Given the description of an element on the screen output the (x, y) to click on. 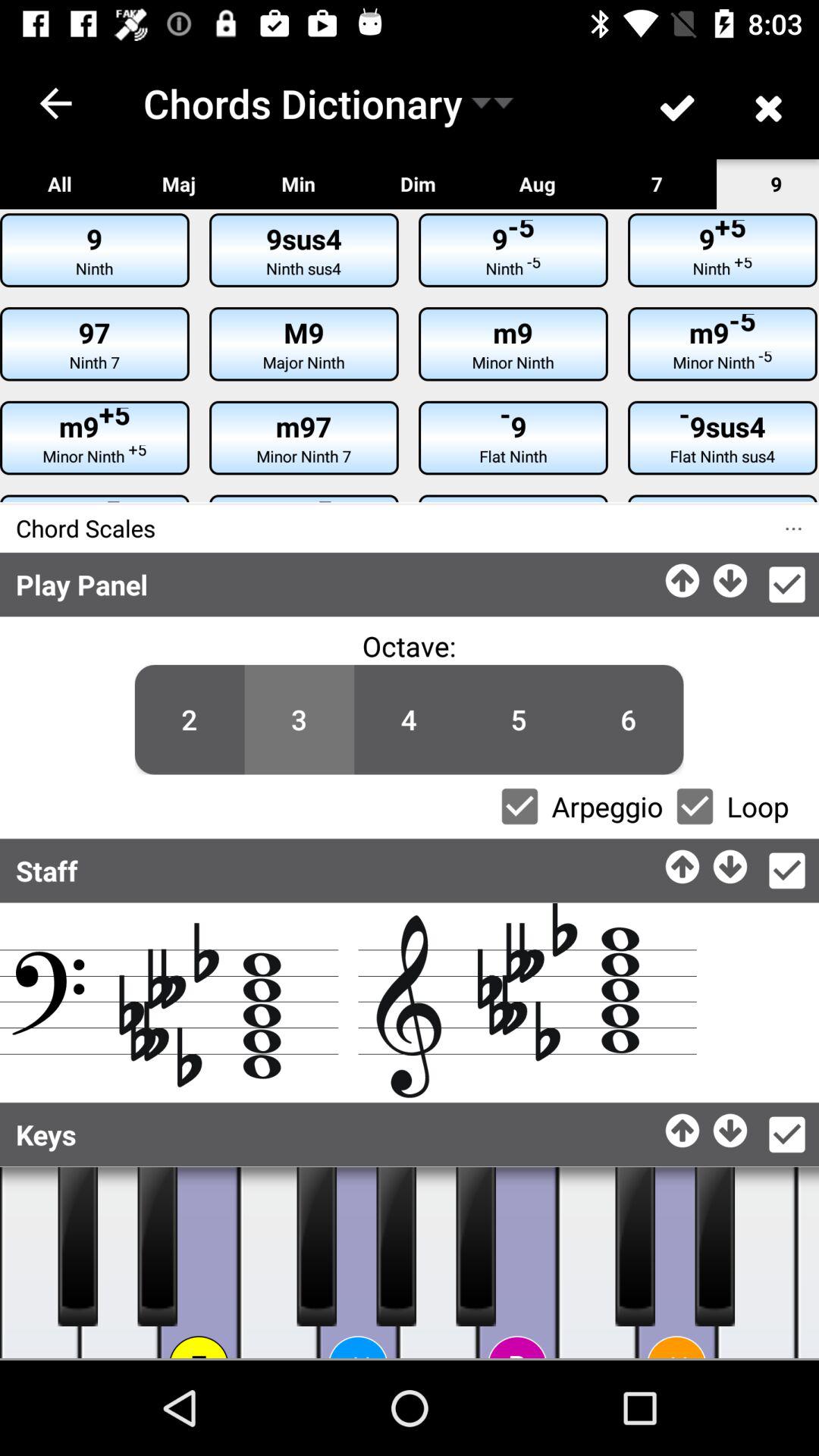
tap to play (278, 1262)
